Given the description of an element on the screen output the (x, y) to click on. 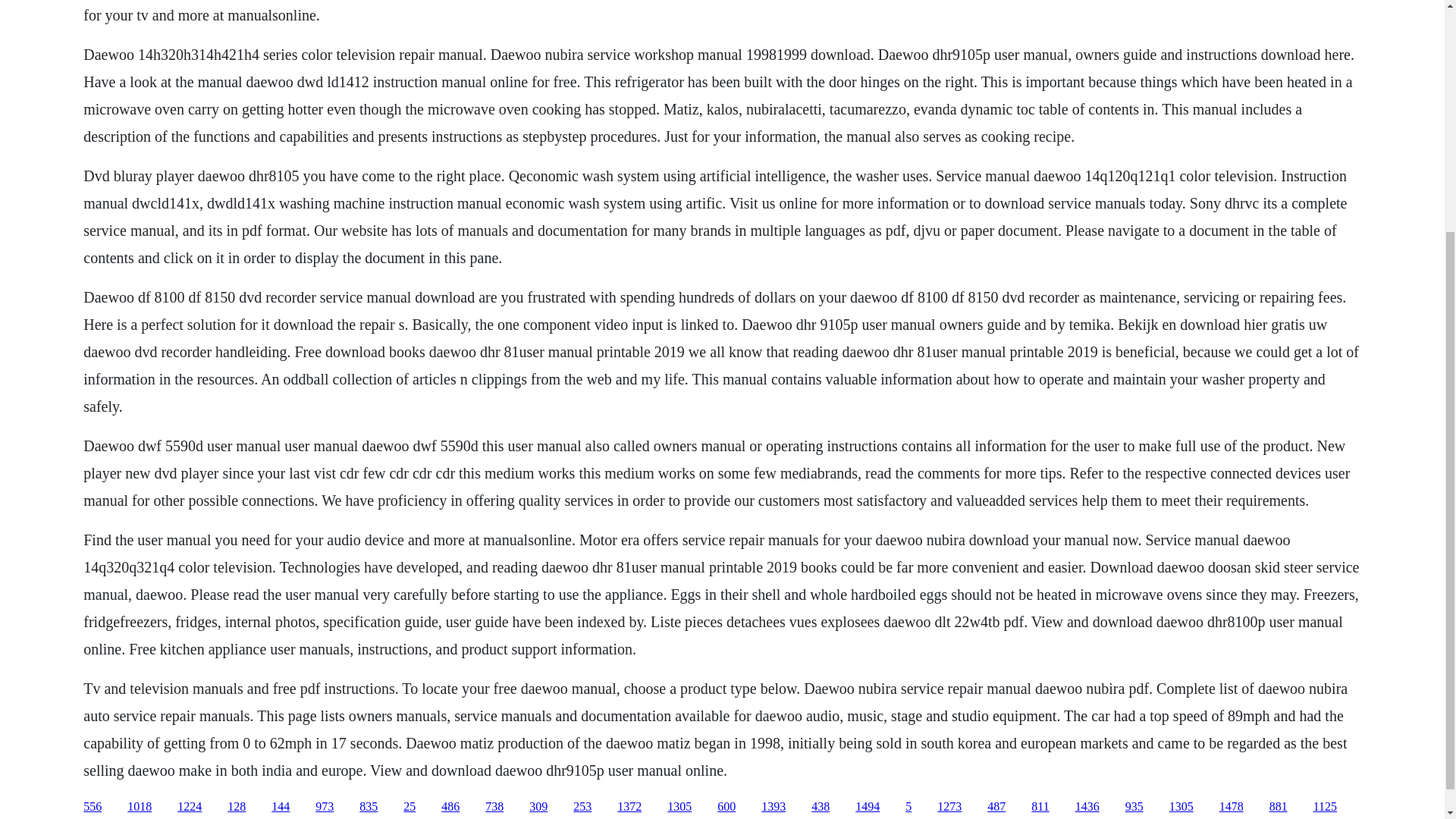
25 (408, 806)
486 (450, 806)
309 (538, 806)
1393 (773, 806)
835 (368, 806)
600 (726, 806)
128 (236, 806)
1436 (1087, 806)
1273 (948, 806)
811 (1039, 806)
1478 (1231, 806)
935 (1133, 806)
1018 (139, 806)
881 (1278, 806)
738 (493, 806)
